Given the description of an element on the screen output the (x, y) to click on. 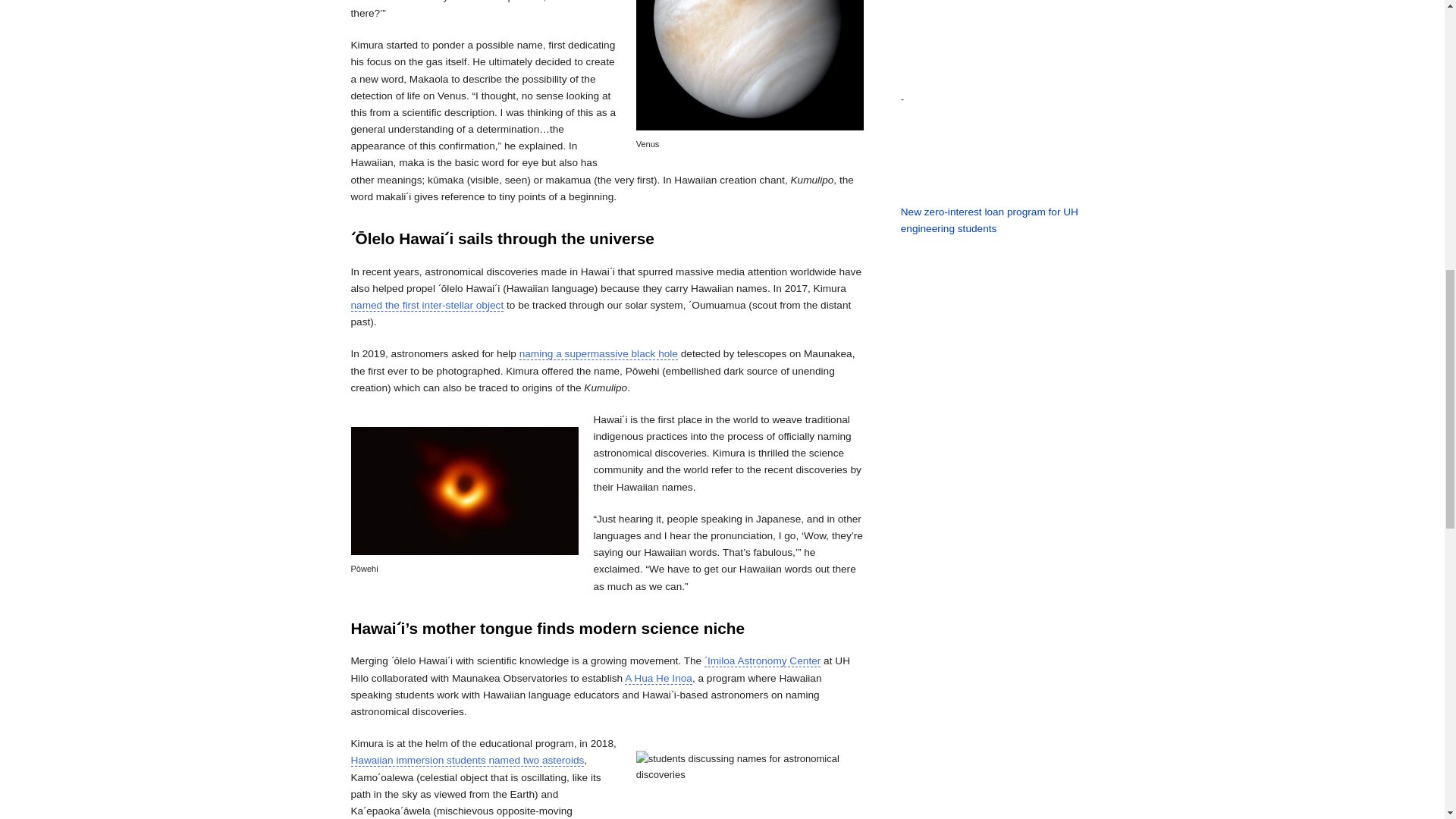
University of Hawaii (842, 660)
named the first inter-stellar object (426, 305)
naming a supermassive black hole (598, 354)
YouTube video player (997, 102)
